Given the description of an element on the screen output the (x, y) to click on. 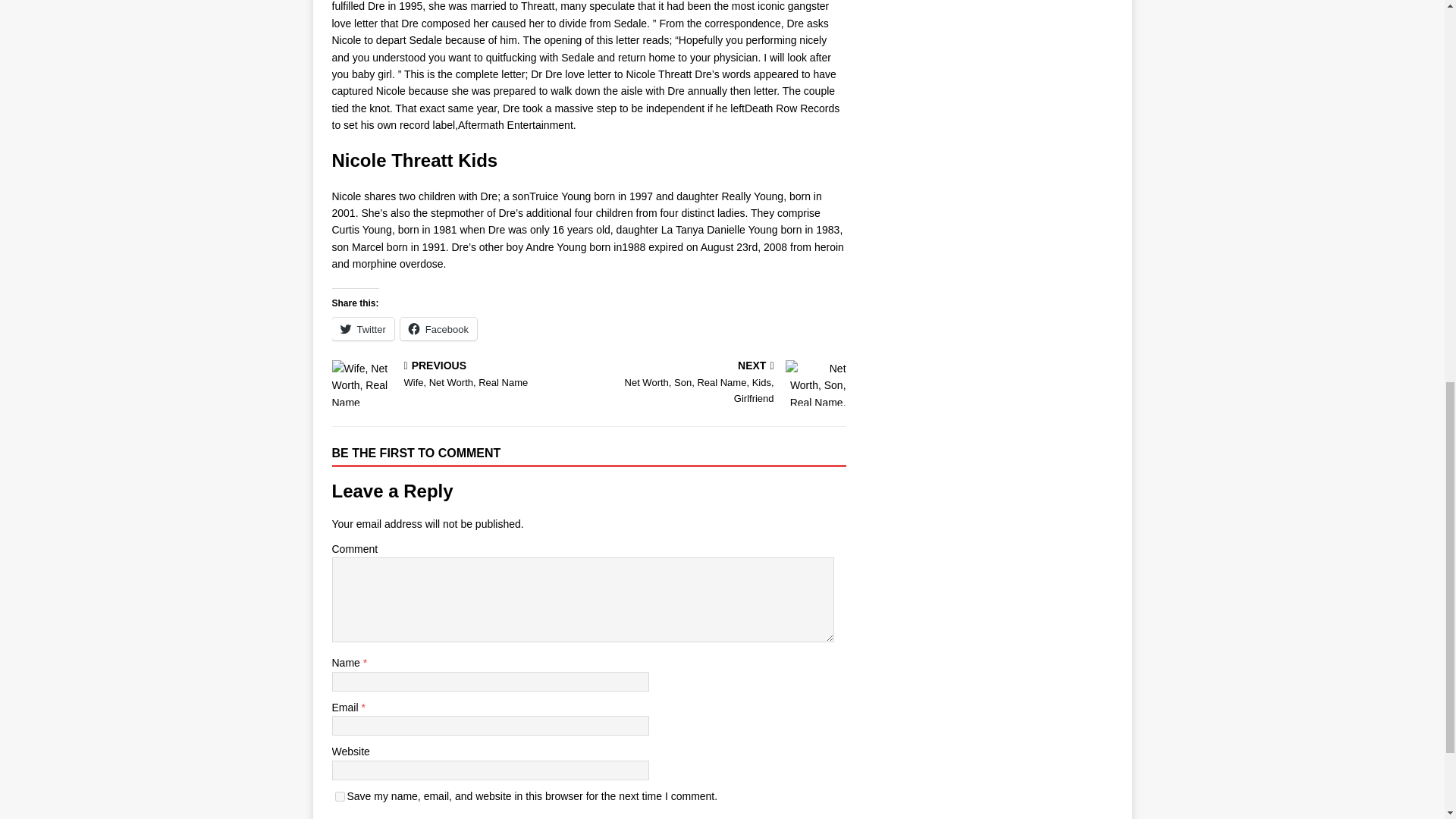
Click to share on Facebook (438, 328)
Click to share on Twitter (362, 328)
Facebook (438, 328)
yes (720, 383)
Twitter (339, 796)
